Given the description of an element on the screen output the (x, y) to click on. 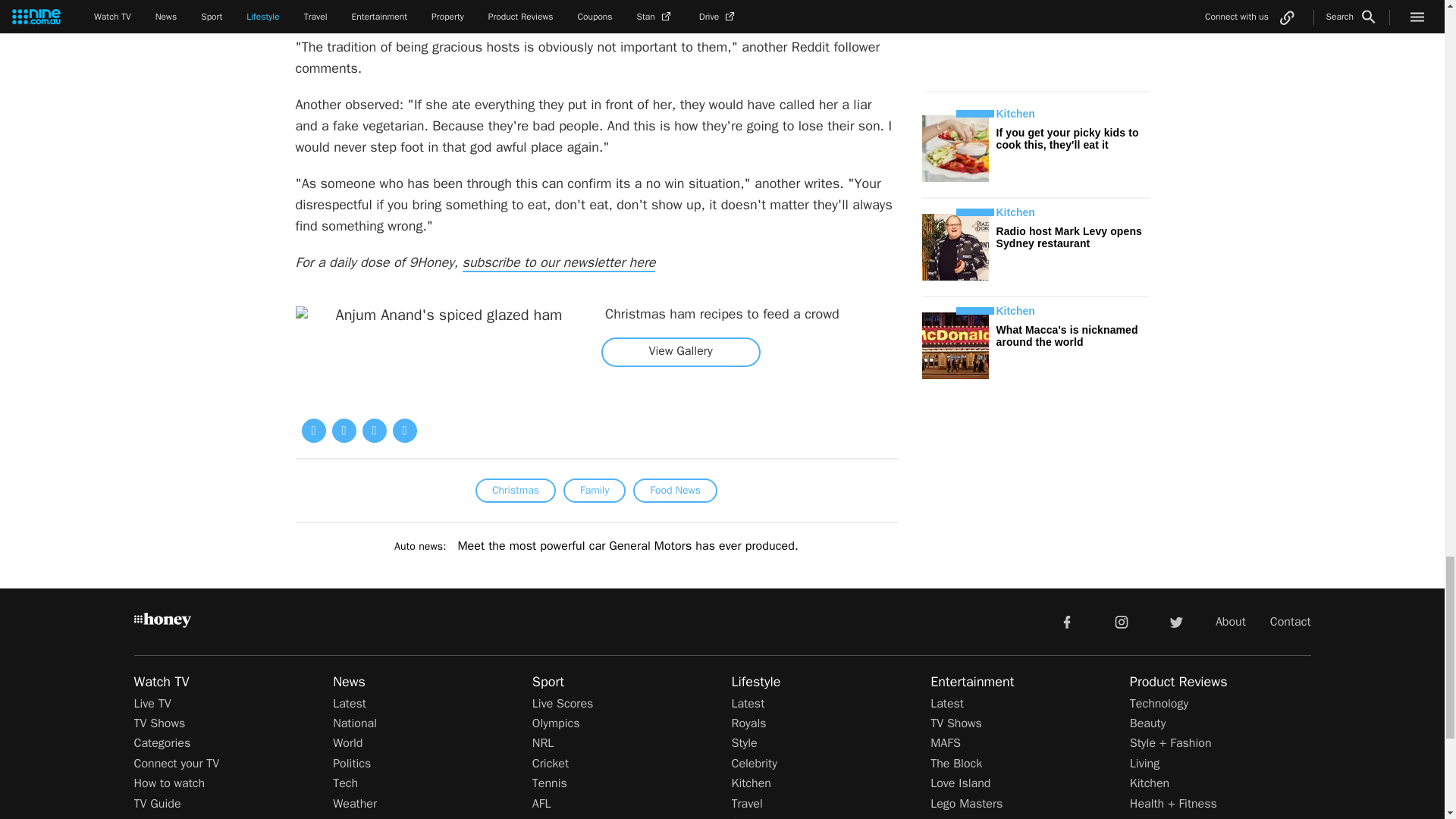
View Gallery (680, 350)
instagram (1121, 621)
twitter (1175, 621)
facebook (1066, 621)
subscribe to our newsletter here (559, 262)
